Given the description of an element on the screen output the (x, y) to click on. 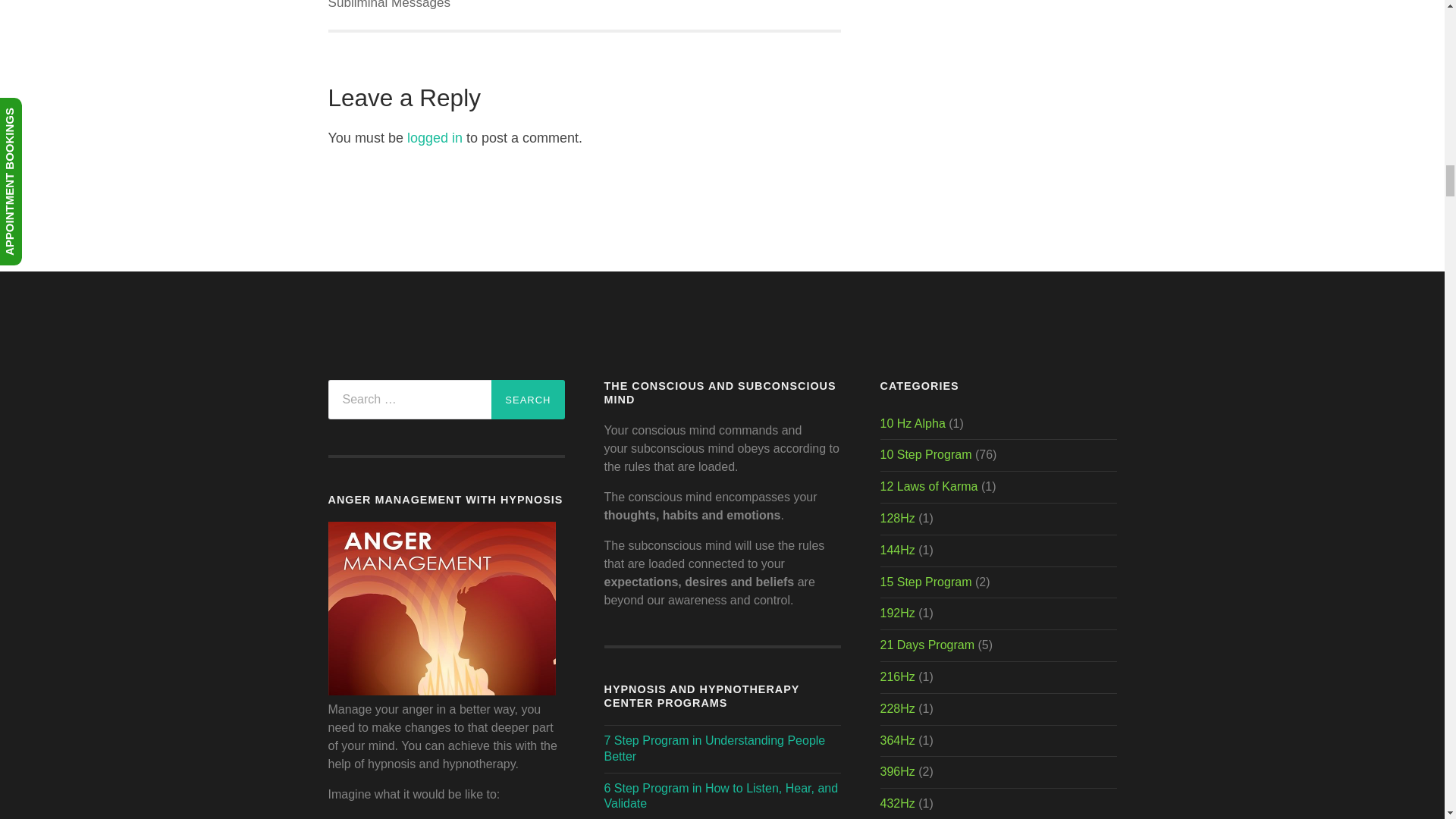
Click Here! Anger Management with Hypnosis (440, 690)
Search (528, 399)
Search (528, 399)
